Given the description of an element on the screen output the (x, y) to click on. 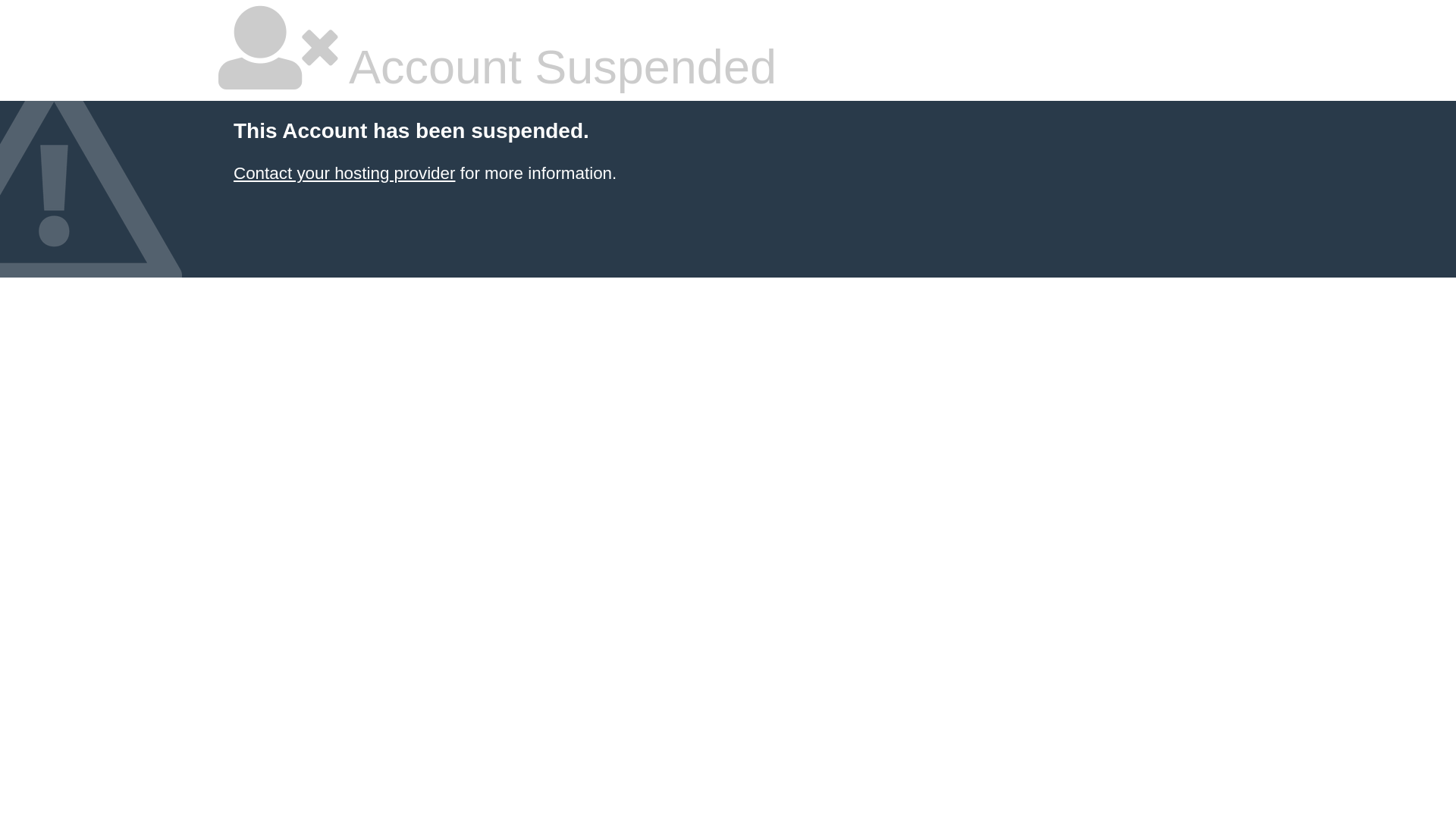
Contact your hosting provider Element type: text (344, 172)
